Given the description of an element on the screen output the (x, y) to click on. 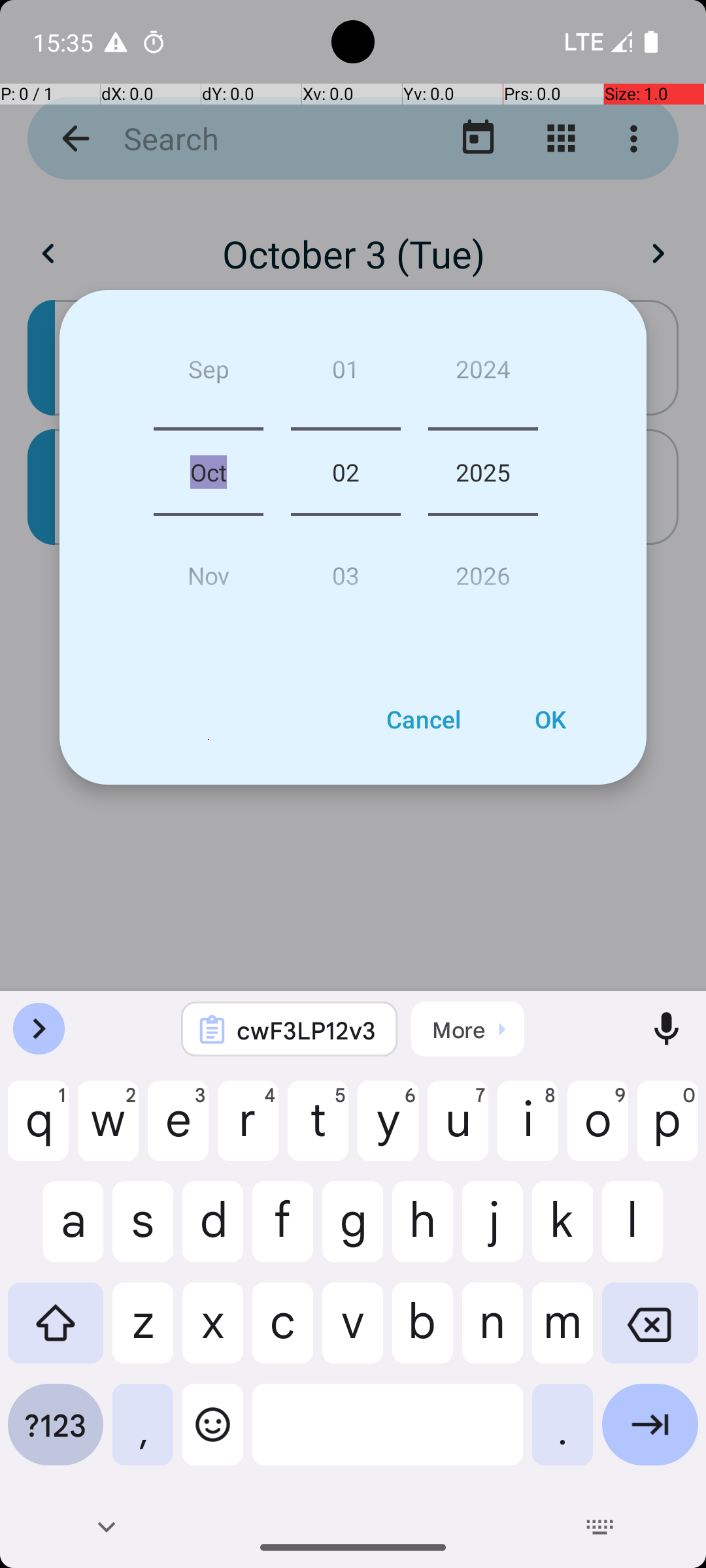
Sep Element type: android.widget.Button (208, 641)
Oct Element type: android.widget.EditText (208, 739)
Nov Element type: android.widget.Button (208, 837)
01 Element type: android.widget.Button (345, 641)
02 Element type: android.widget.EditText (345, 739)
03 Element type: android.widget.Button (345, 837)
2024 Element type: android.widget.Button (482, 641)
2025 Element type: android.widget.EditText (482, 739)
2026 Element type: android.widget.Button (482, 837)
